Given the description of an element on the screen output the (x, y) to click on. 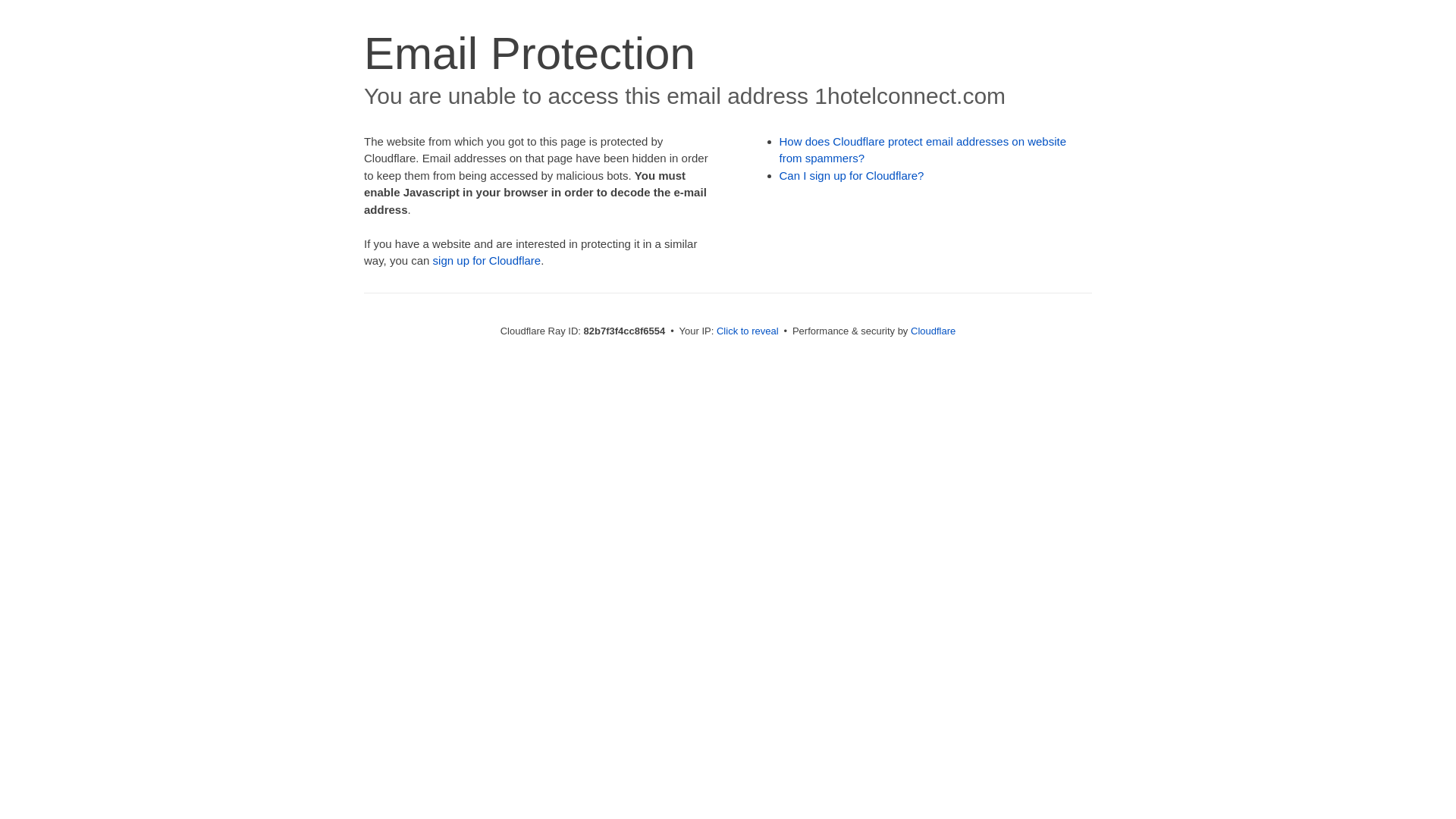
sign up for Cloudflare Element type: text (487, 260)
Click to reveal Element type: text (747, 330)
Can I sign up for Cloudflare? Element type: text (851, 175)
Cloudflare Element type: text (932, 330)
